Given the description of an element on the screen output the (x, y) to click on. 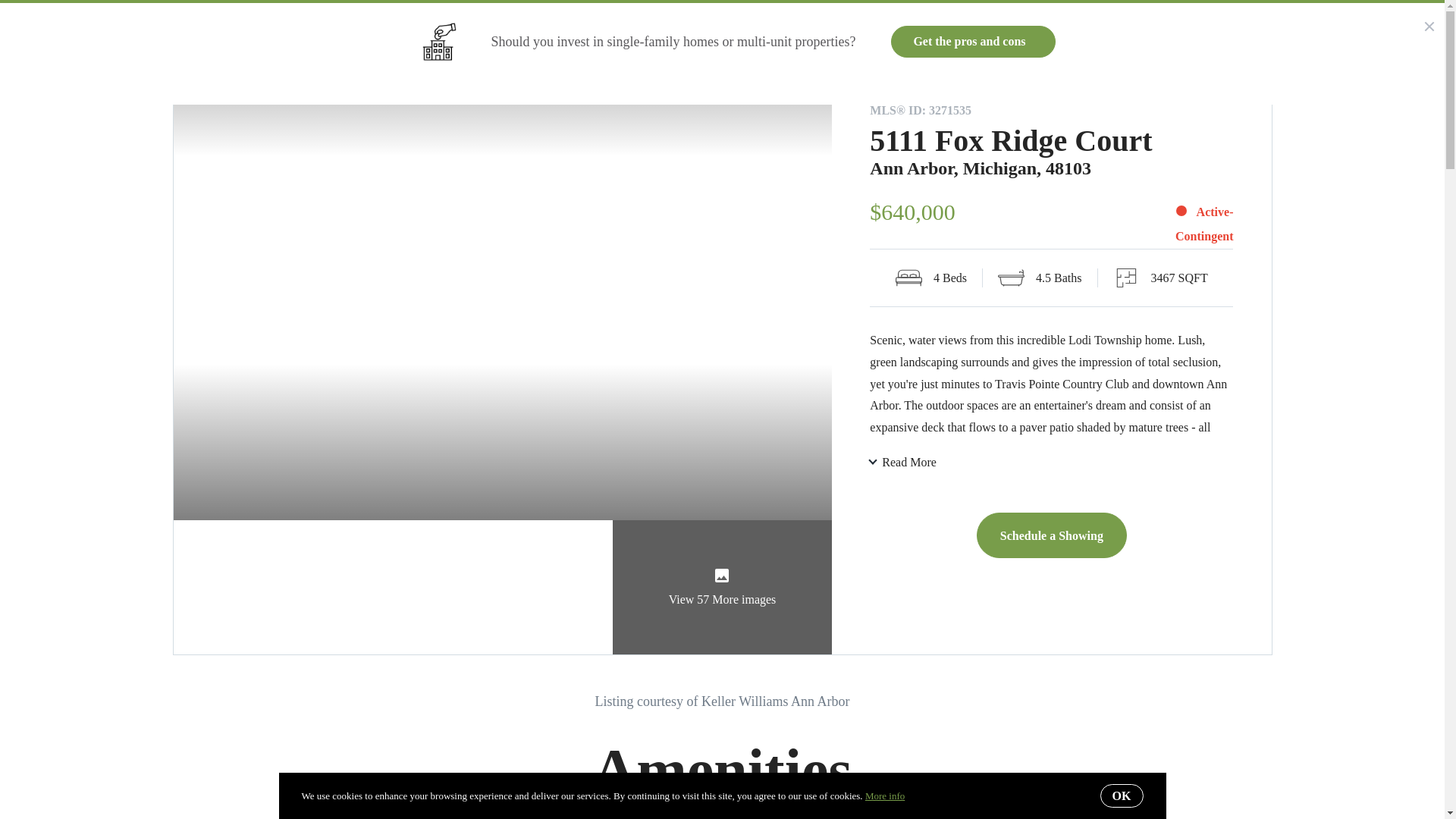
View 57 More images (722, 587)
Get the pros and cons (972, 41)
